Given the description of an element on the screen output the (x, y) to click on. 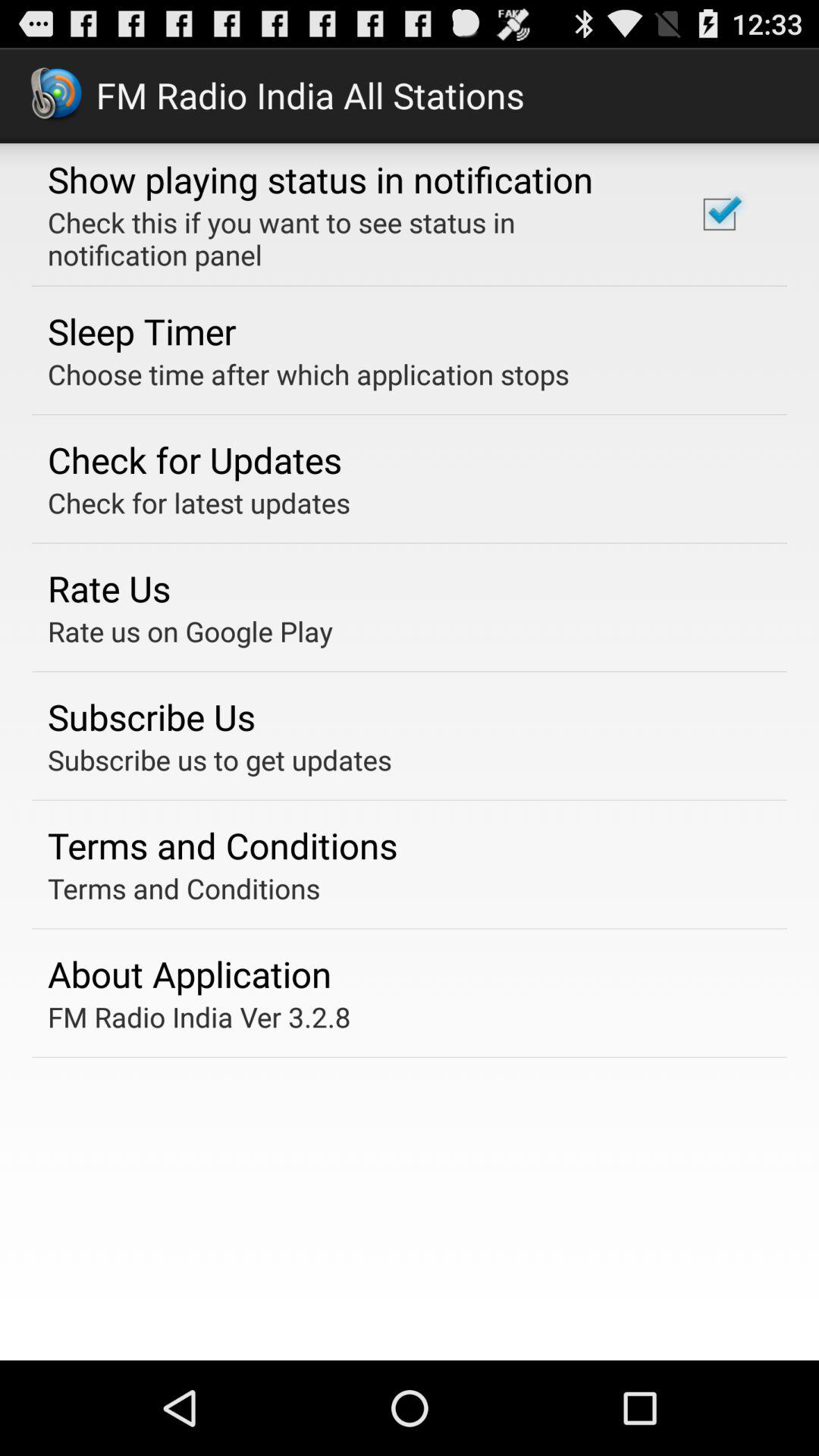
choose the about application (189, 973)
